Given the description of an element on the screen output the (x, y) to click on. 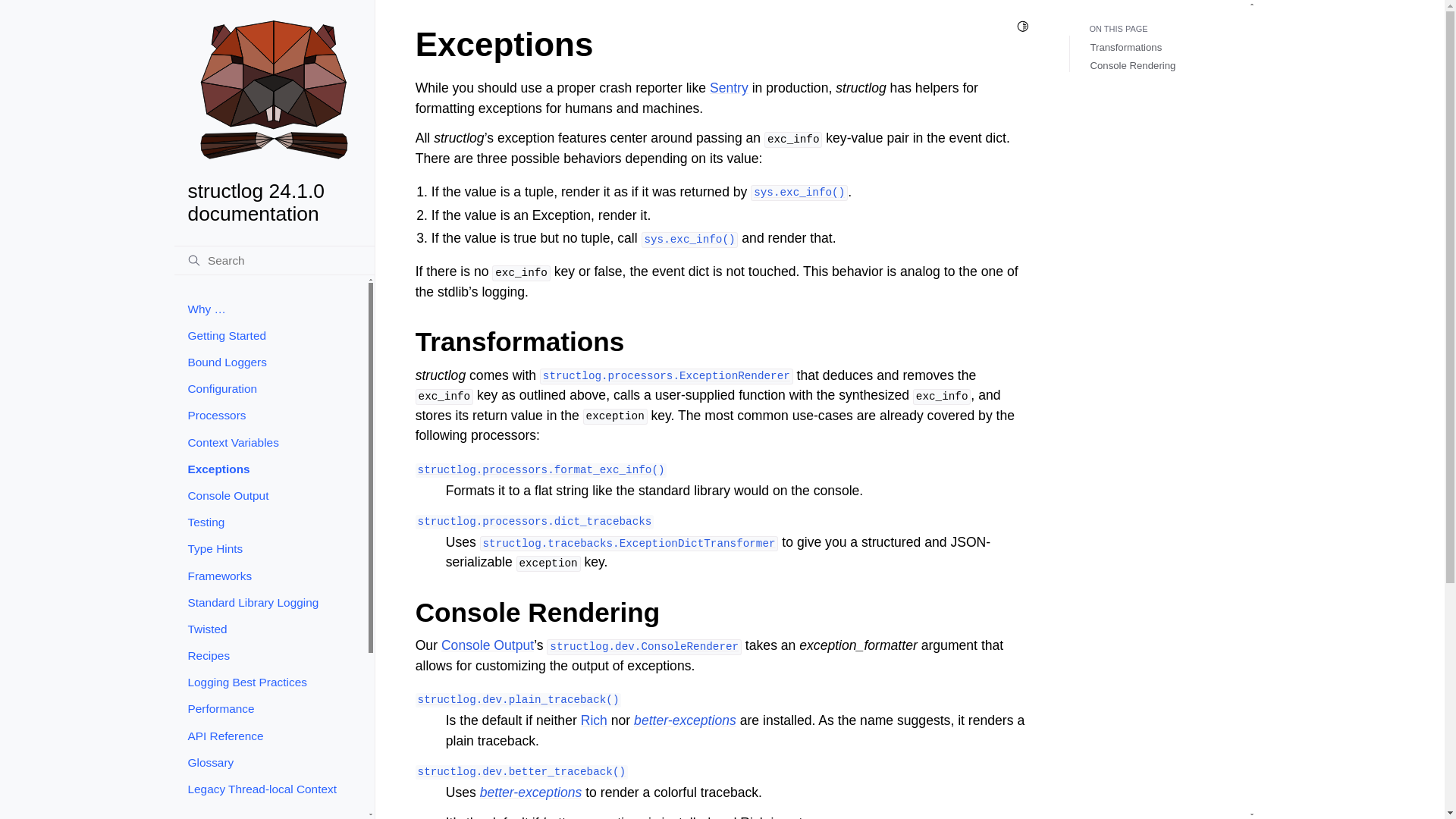
structlog.dev.ConsoleRenderer (644, 645)
Processors (270, 415)
Configuration (270, 388)
structlog.tracebacks.ExceptionDictTransformer (629, 541)
Exceptions (270, 468)
Twisted (270, 628)
Bound Loggers (270, 361)
Glossary (270, 762)
structlog.tracebacks.ExceptionDictTransformer (629, 541)
structlog.processors.ExceptionRenderer (666, 375)
